Given the description of an element on the screen output the (x, y) to click on. 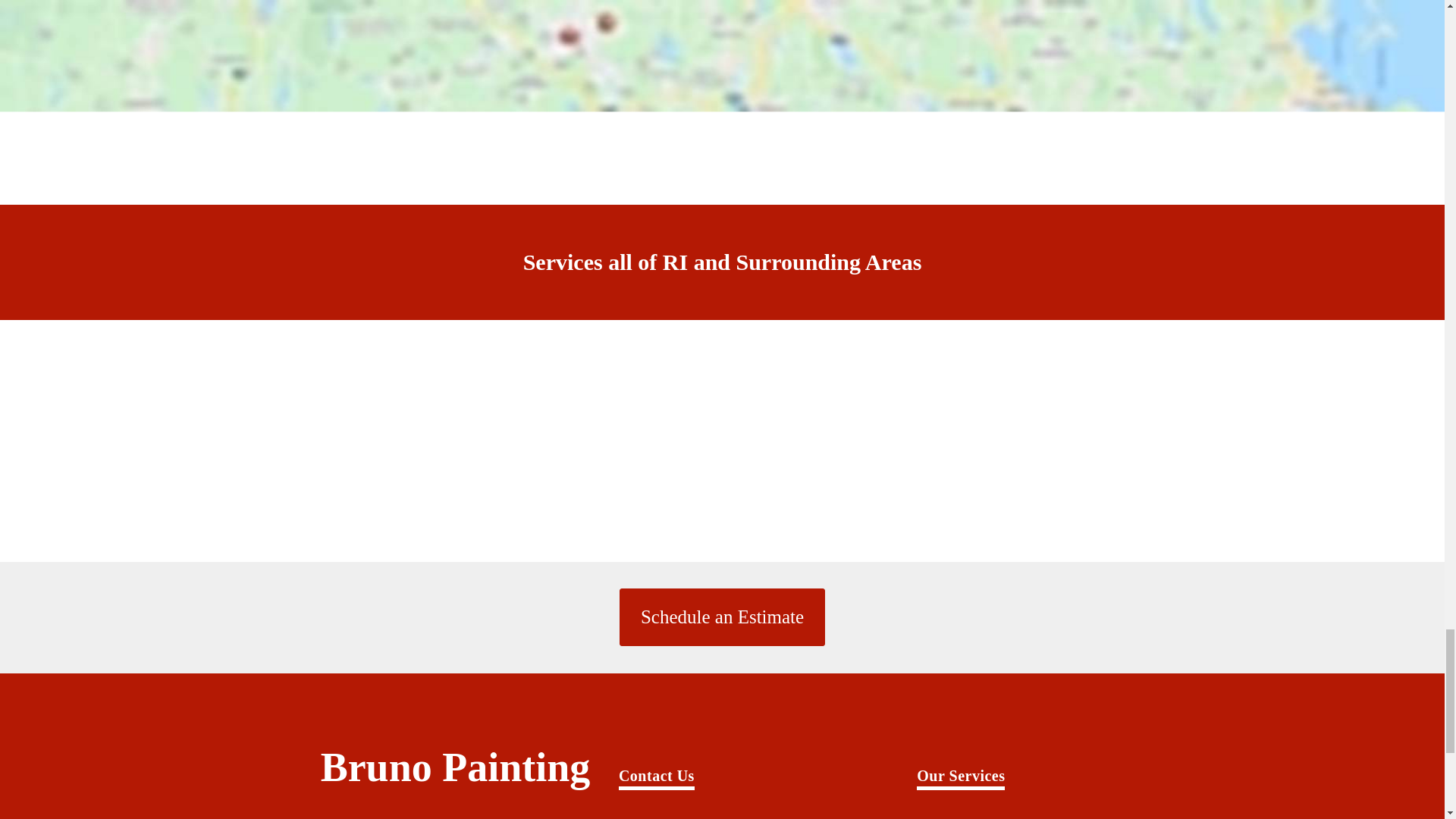
Schedule an Estimate (722, 617)
